Given the description of an element on the screen output the (x, y) to click on. 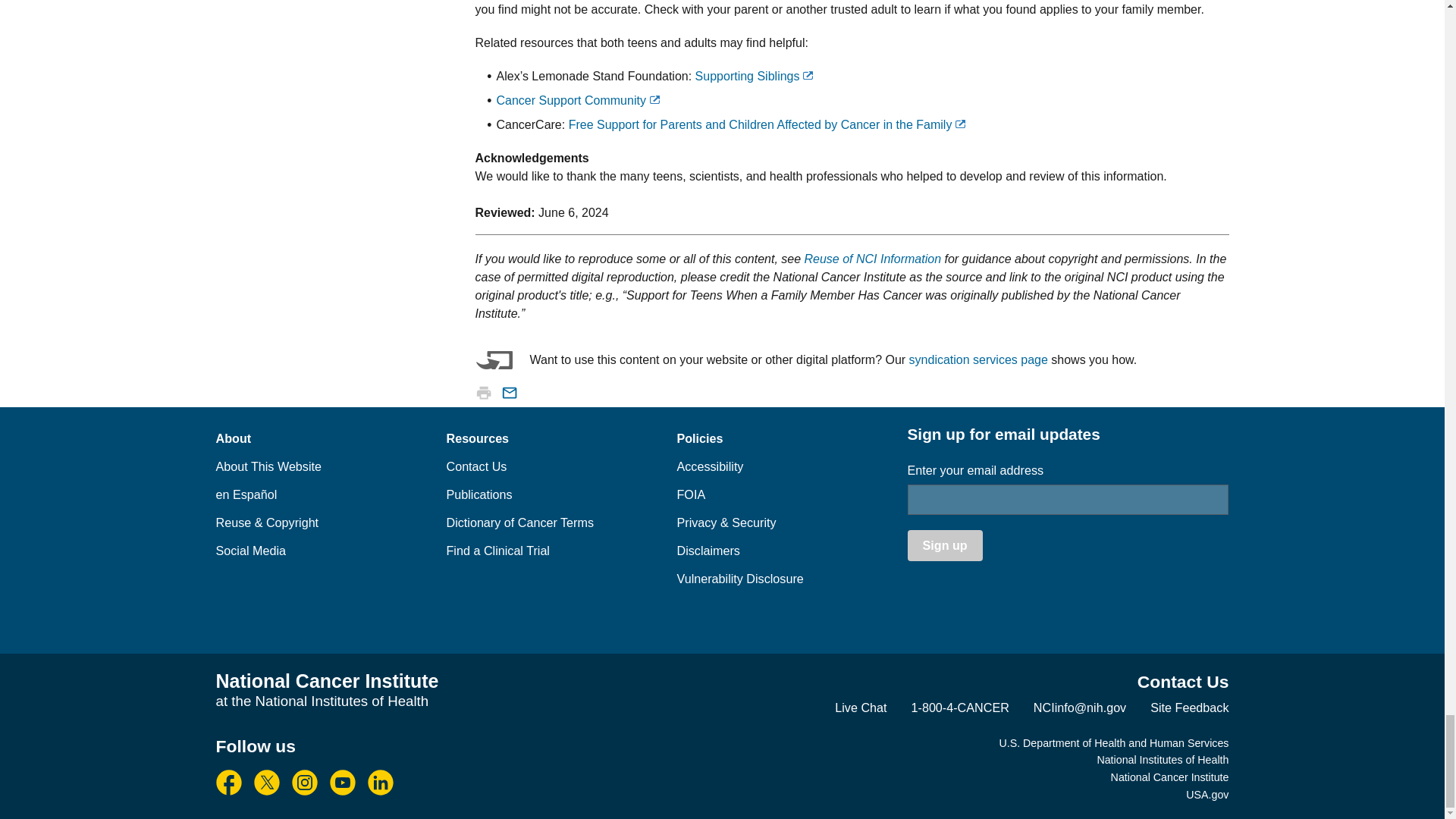
Exit Disclaimer (655, 99)
Exit Disclaimer (807, 75)
Exit Disclaimer (960, 123)
